Given the description of an element on the screen output the (x, y) to click on. 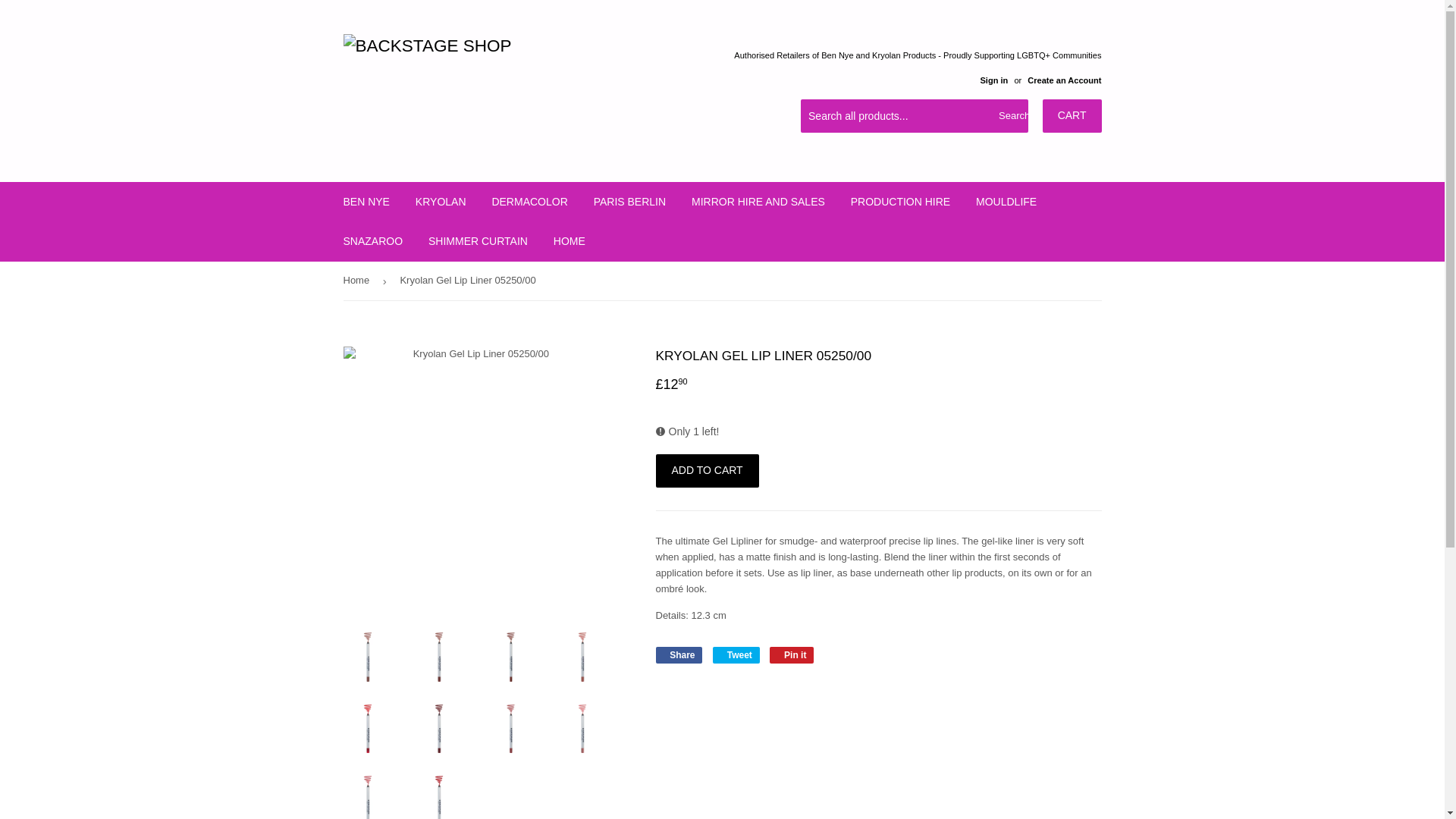
BEN NYE (366, 201)
Home (358, 280)
Pin on Pinterest (791, 655)
Sign in (993, 80)
DERMACOLOR (529, 201)
SHIMMER CURTAIN (477, 241)
KRYOLAN (440, 201)
Search (1010, 116)
Share on Facebook (678, 655)
Tweet on Twitter (736, 655)
PARIS BERLIN (629, 201)
Back to the frontpage (358, 280)
PRODUCTION HIRE (900, 201)
MIRROR HIRE AND SALES (757, 201)
SNAZAROO (372, 241)
